Given the description of an element on the screen output the (x, y) to click on. 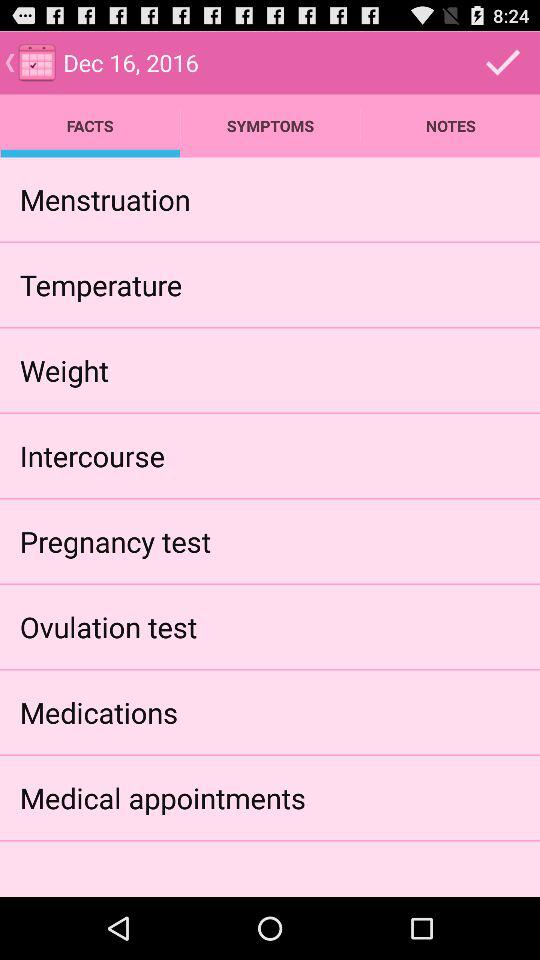
choose the app below the temperature (63, 369)
